Given the description of an element on the screen output the (x, y) to click on. 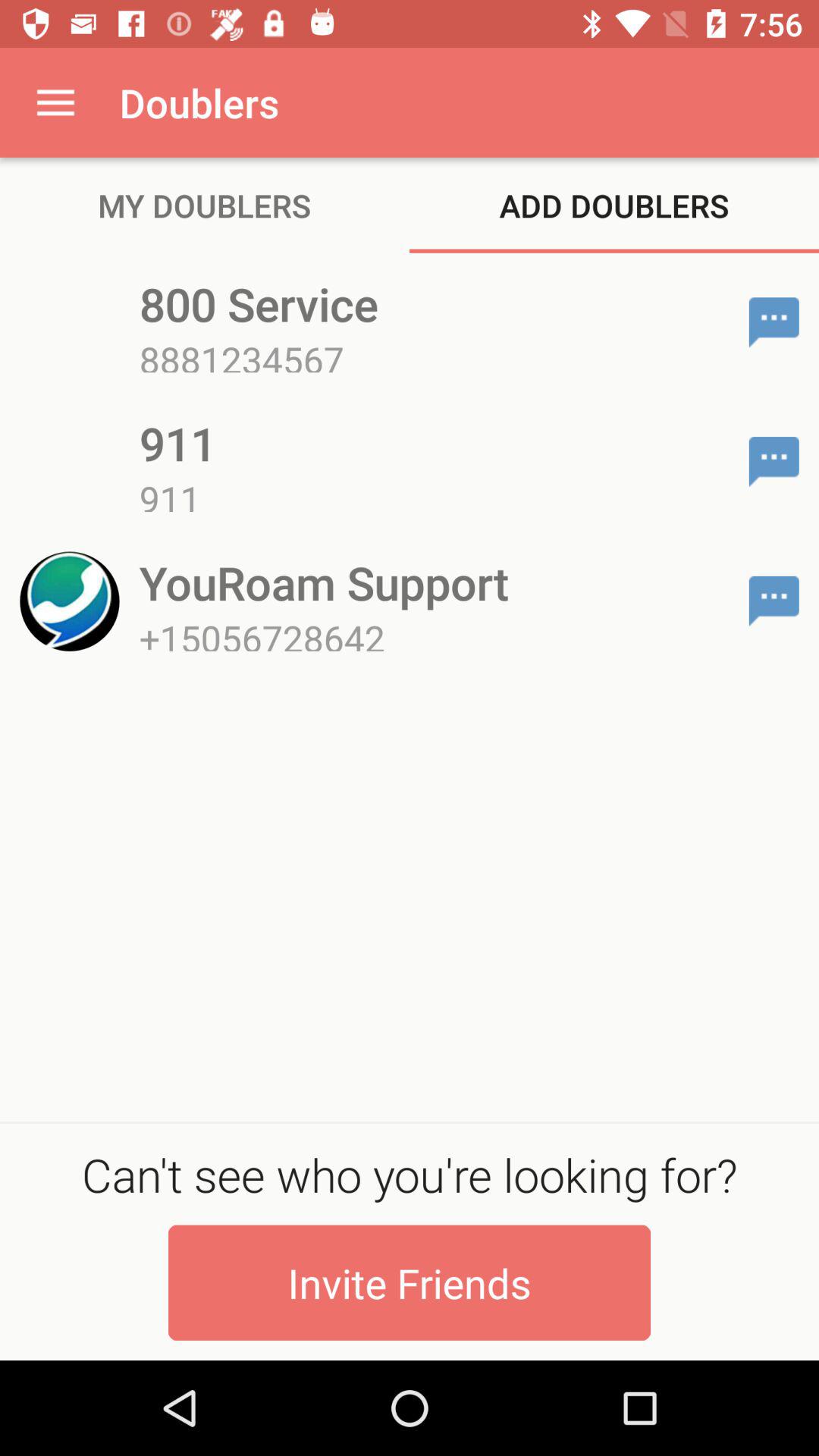
turn on app to the right of youroam support (774, 601)
